Given the description of an element on the screen output the (x, y) to click on. 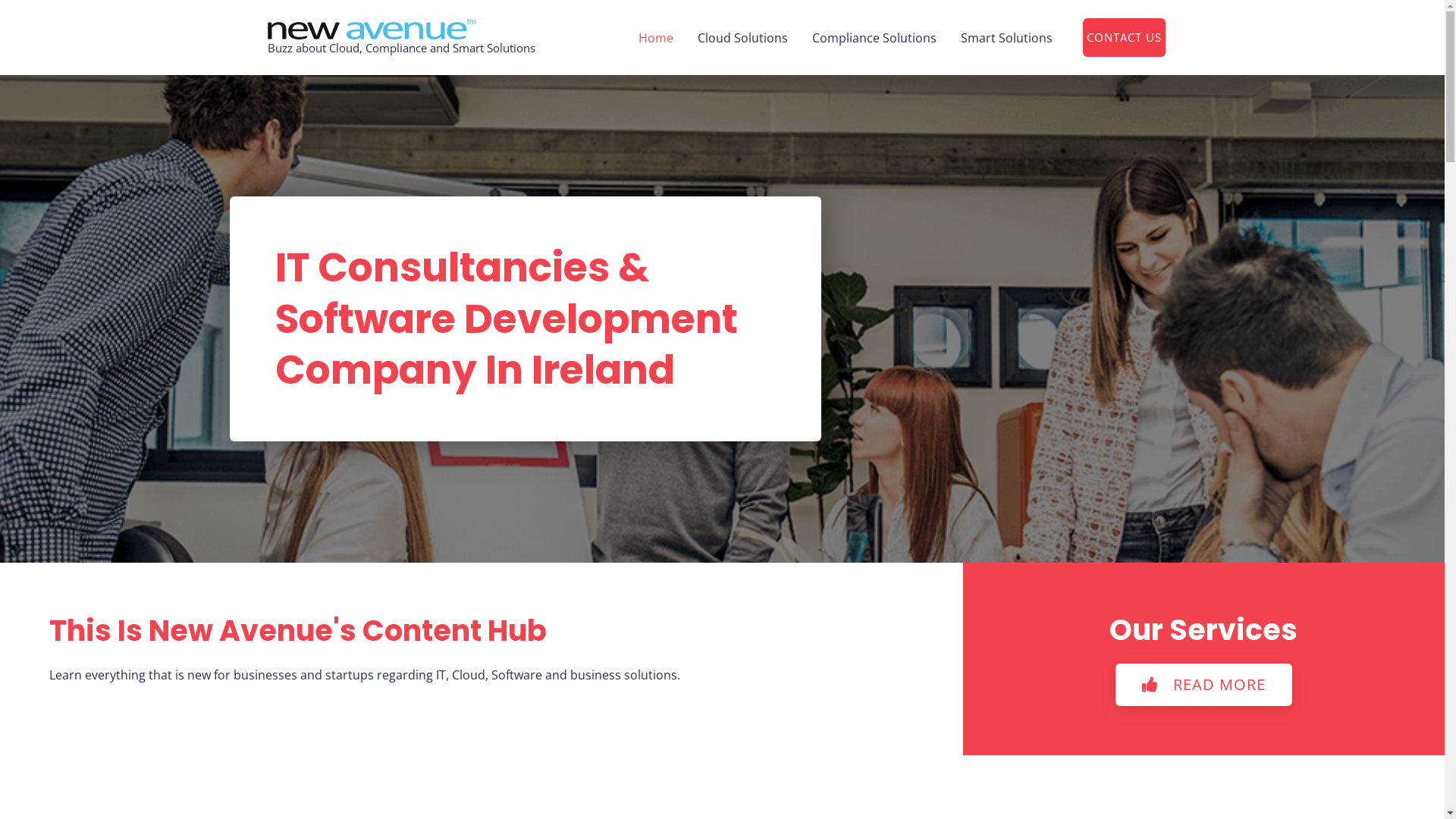
Cloud Solutions Element type: text (742, 37)
 CONTACT US  Element type: text (1123, 37)
Smart Solutions Element type: text (1005, 37)
Compliance Solutions Element type: text (873, 37)
Home Element type: text (655, 37)
READ MORE Element type: text (1203, 684)
